Given the description of an element on the screen output the (x, y) to click on. 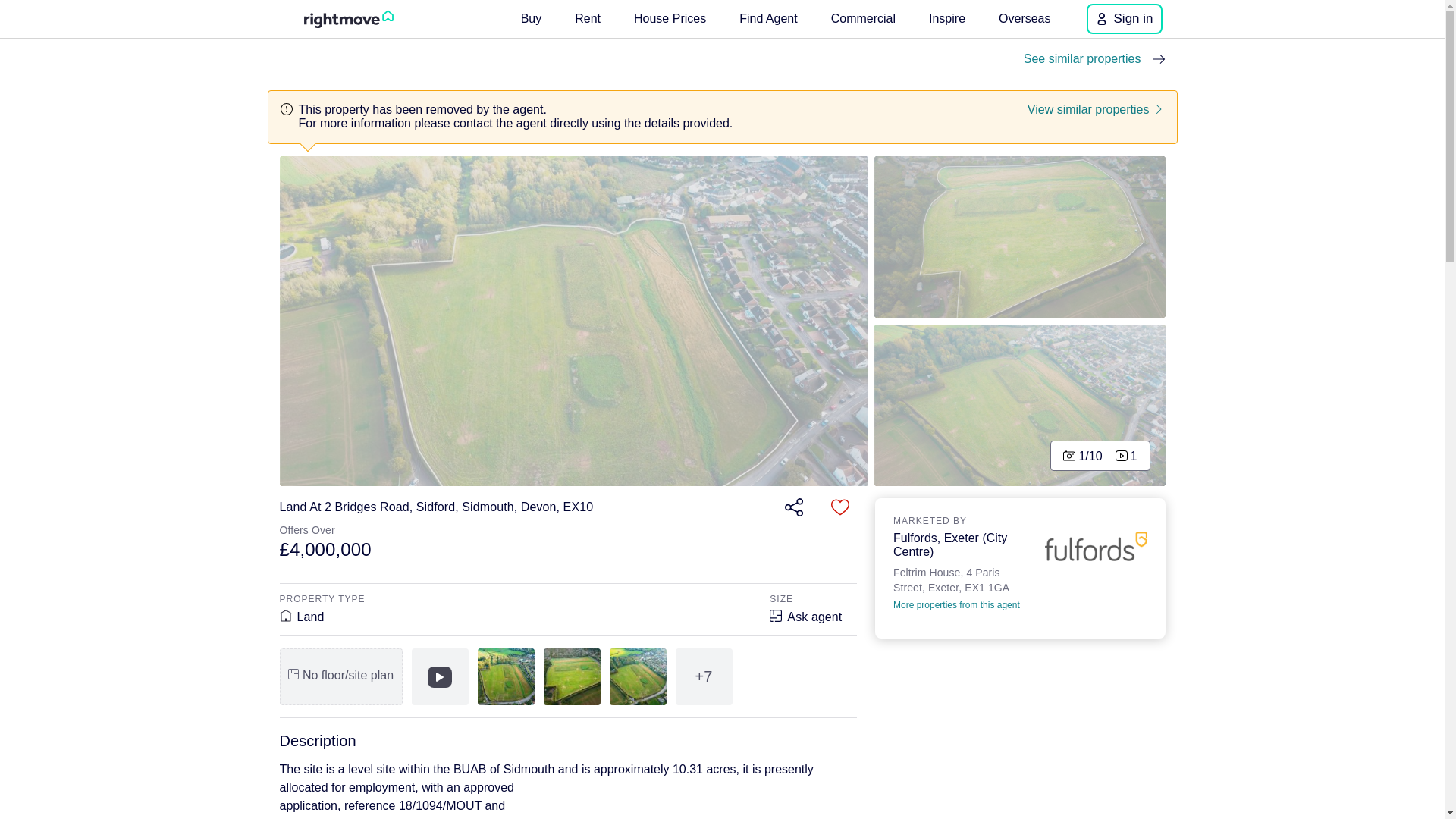
Picture No. 02 (1020, 405)
Inspire (947, 18)
Overseas (1024, 18)
Commercial (863, 18)
Buy (531, 18)
Site Video (438, 676)
Picture No. 04 (1020, 236)
Save this property (840, 506)
Share this property (792, 506)
